Given the description of an element on the screen output the (x, y) to click on. 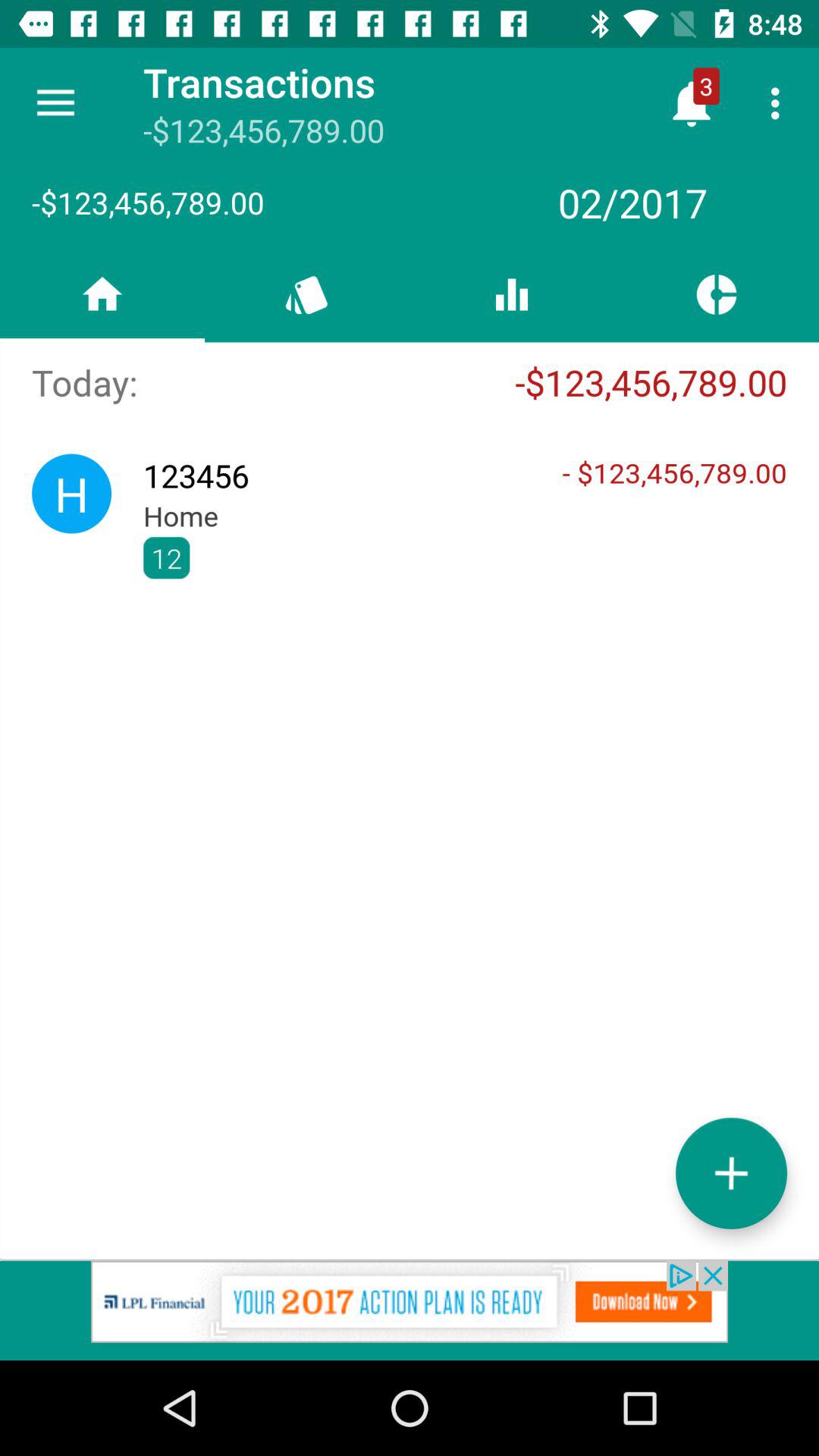
turn on item to the left of transactions (55, 103)
